Given the description of an element on the screen output the (x, y) to click on. 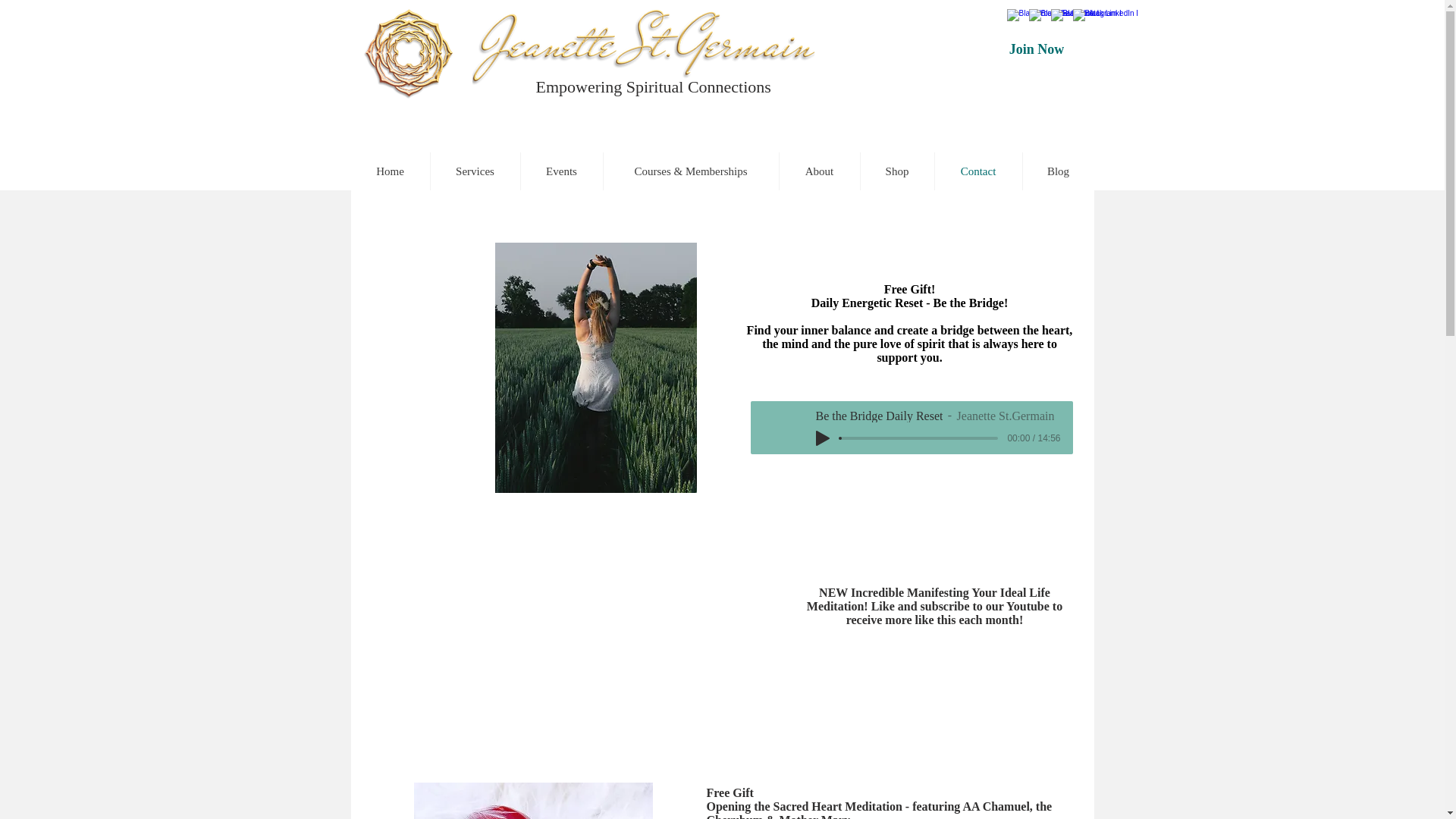
Services (474, 171)
Contact (978, 171)
About (819, 171)
Home (389, 171)
Shop (896, 171)
Join Now (1035, 49)
0 (919, 437)
Events (560, 171)
Blog (1057, 171)
